Given the description of an element on the screen output the (x, y) to click on. 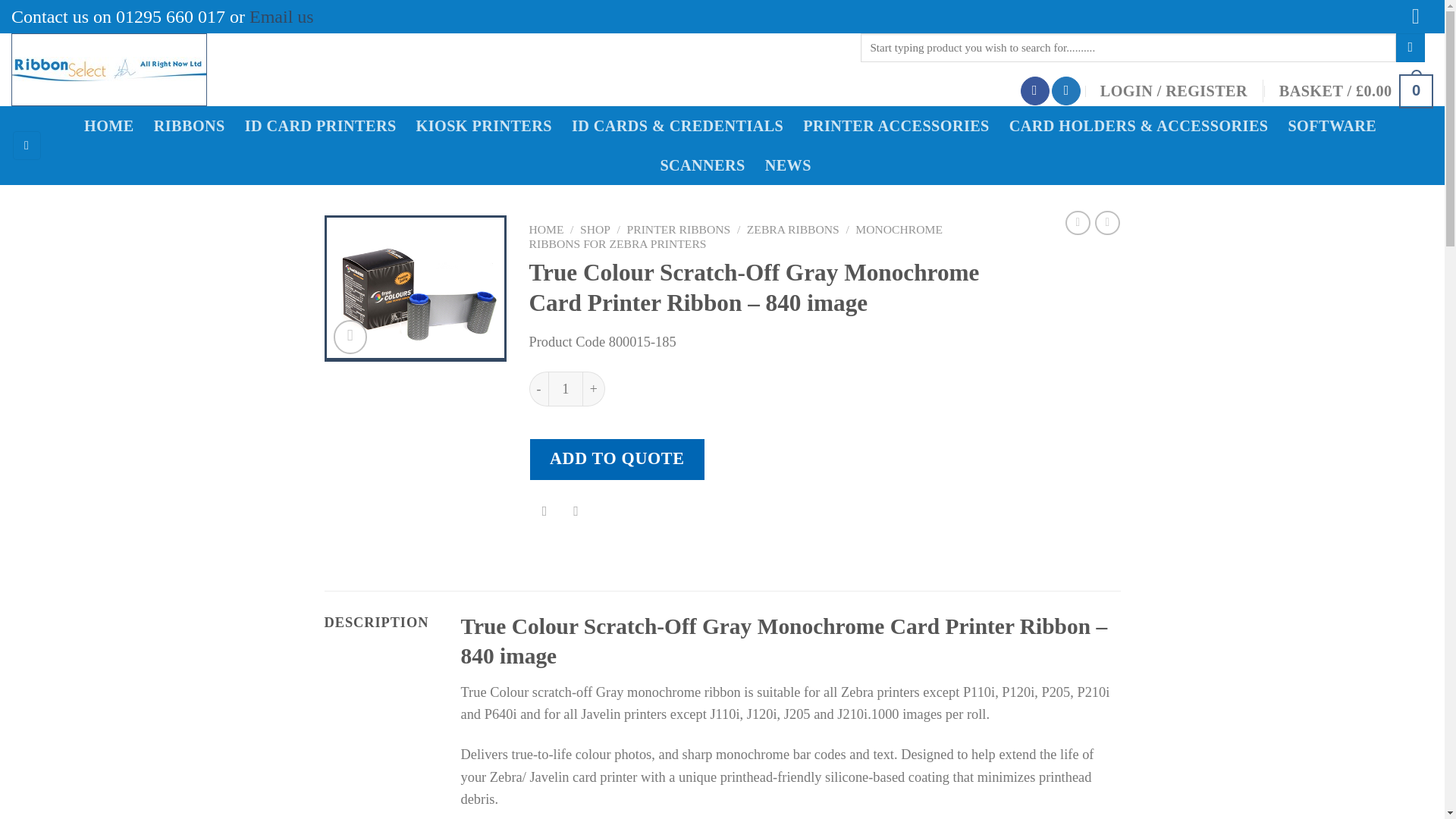
Follow on Facebook (1034, 90)
KIOSK PRINTERS (488, 125)
Zoom (350, 336)
Share on Facebook (544, 511)
ZEBRA RIBBONS (793, 228)
SOFTWARE (1336, 125)
MONOCHROME RIBBONS FOR ZEBRA PRINTERS (735, 236)
Search (1410, 47)
SCANNERS (706, 165)
Email us (281, 16)
NEWS (793, 165)
Share on Twitter (576, 511)
ADD TO QUOTE (617, 458)
SHOP (594, 228)
